Given the description of an element on the screen output the (x, y) to click on. 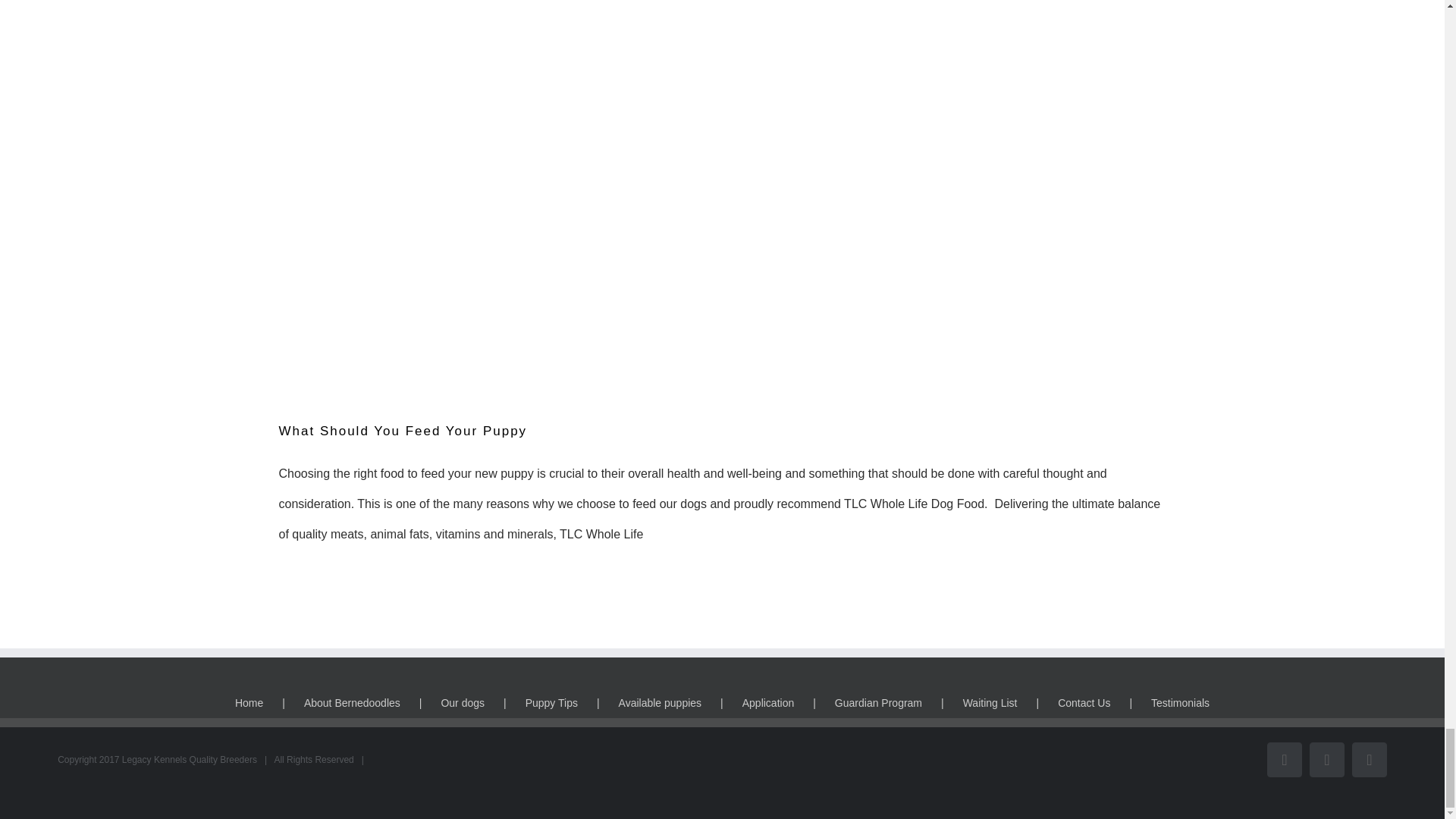
Facebook (1283, 759)
Email (1369, 759)
Instagram (1325, 759)
